Given the description of an element on the screen output the (x, y) to click on. 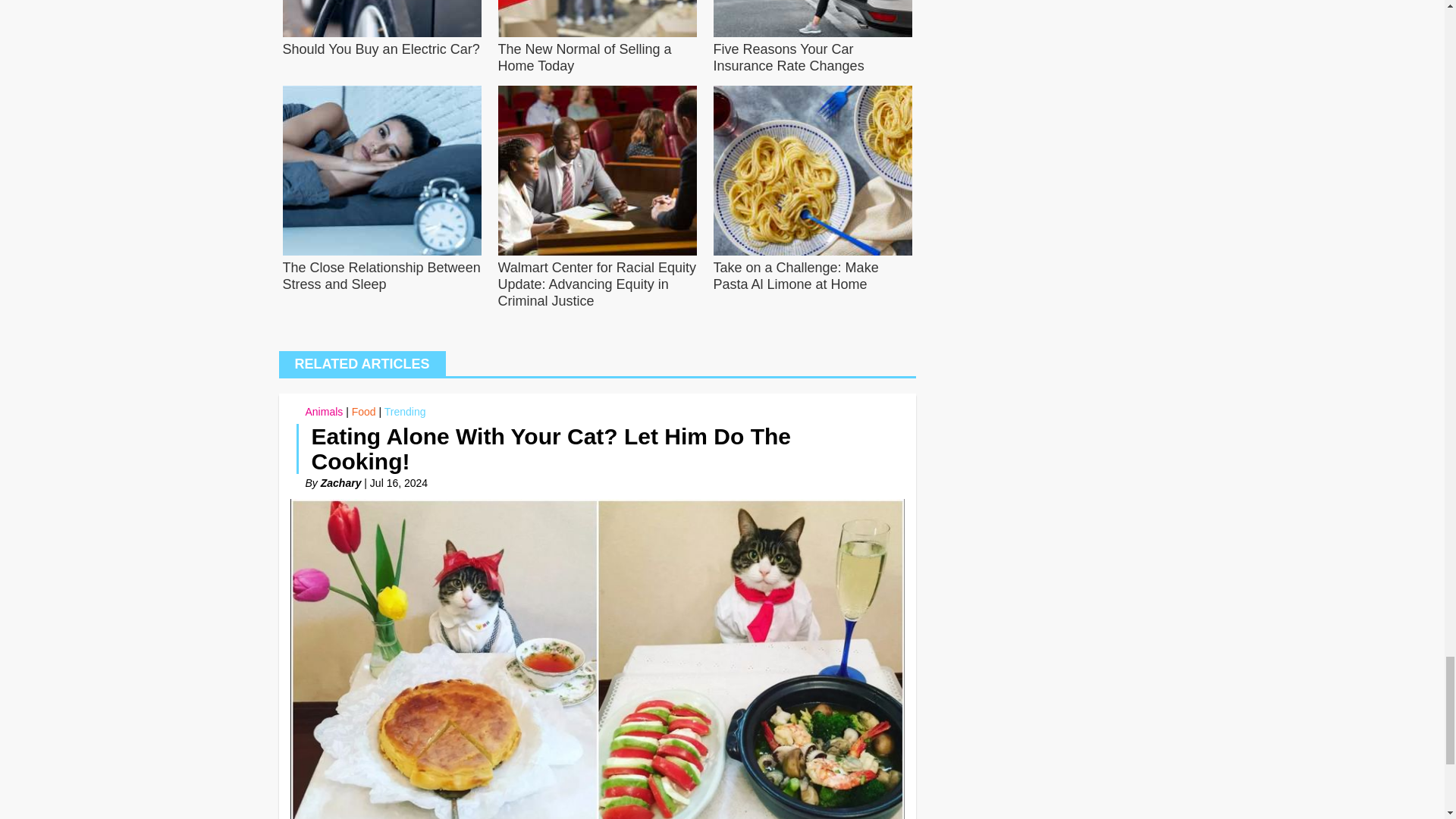
Zachary's Profile (340, 482)
